Given the description of an element on the screen output the (x, y) to click on. 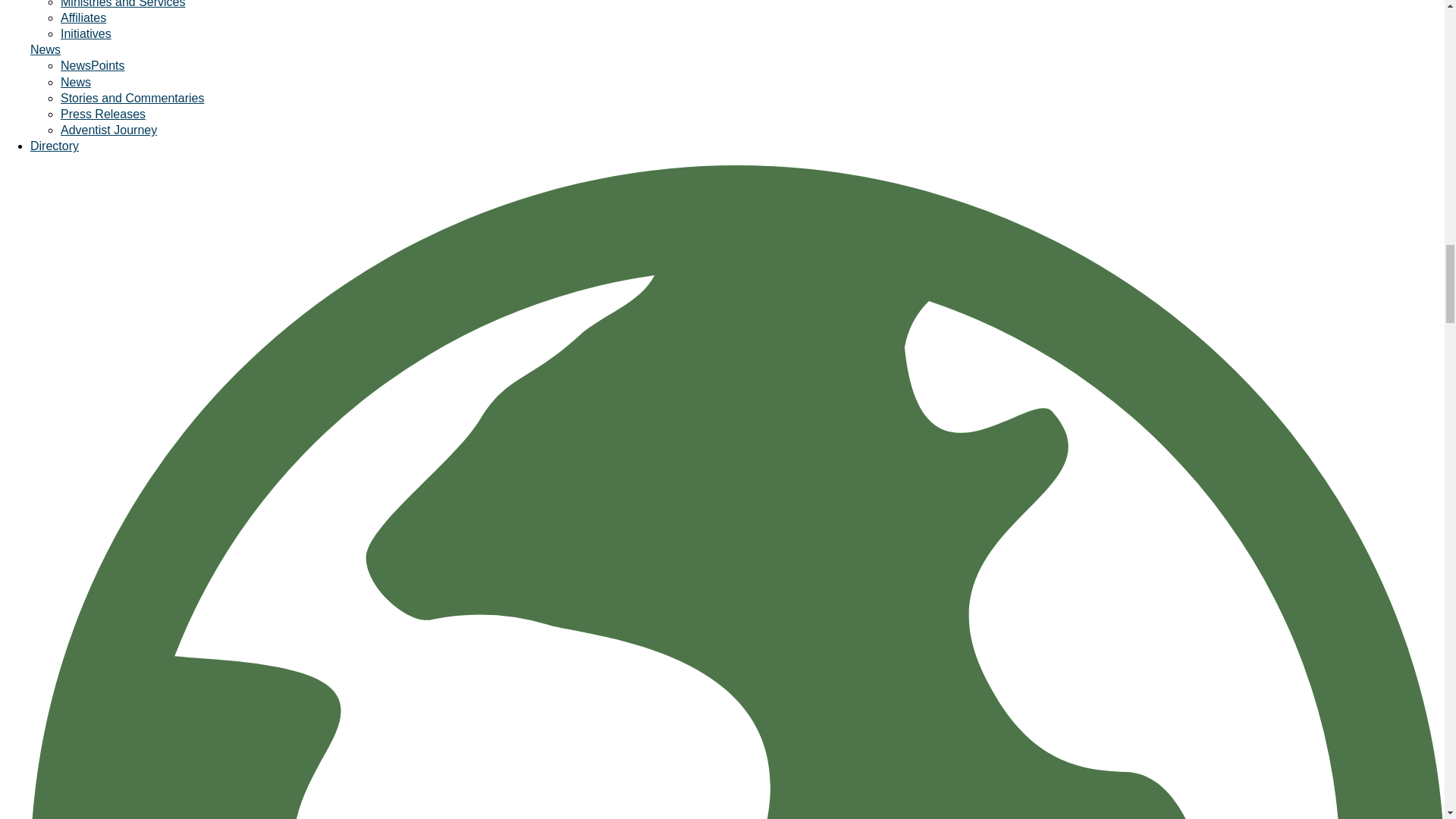
Directory (54, 145)
News (45, 49)
Ministries and Services (123, 4)
Affiliates (83, 17)
Adventist Journey (109, 129)
Press Releases (103, 113)
News (75, 82)
Initiatives (86, 33)
Stories and Commentaries (132, 97)
NewsPoints (92, 65)
